Given the description of an element on the screen output the (x, y) to click on. 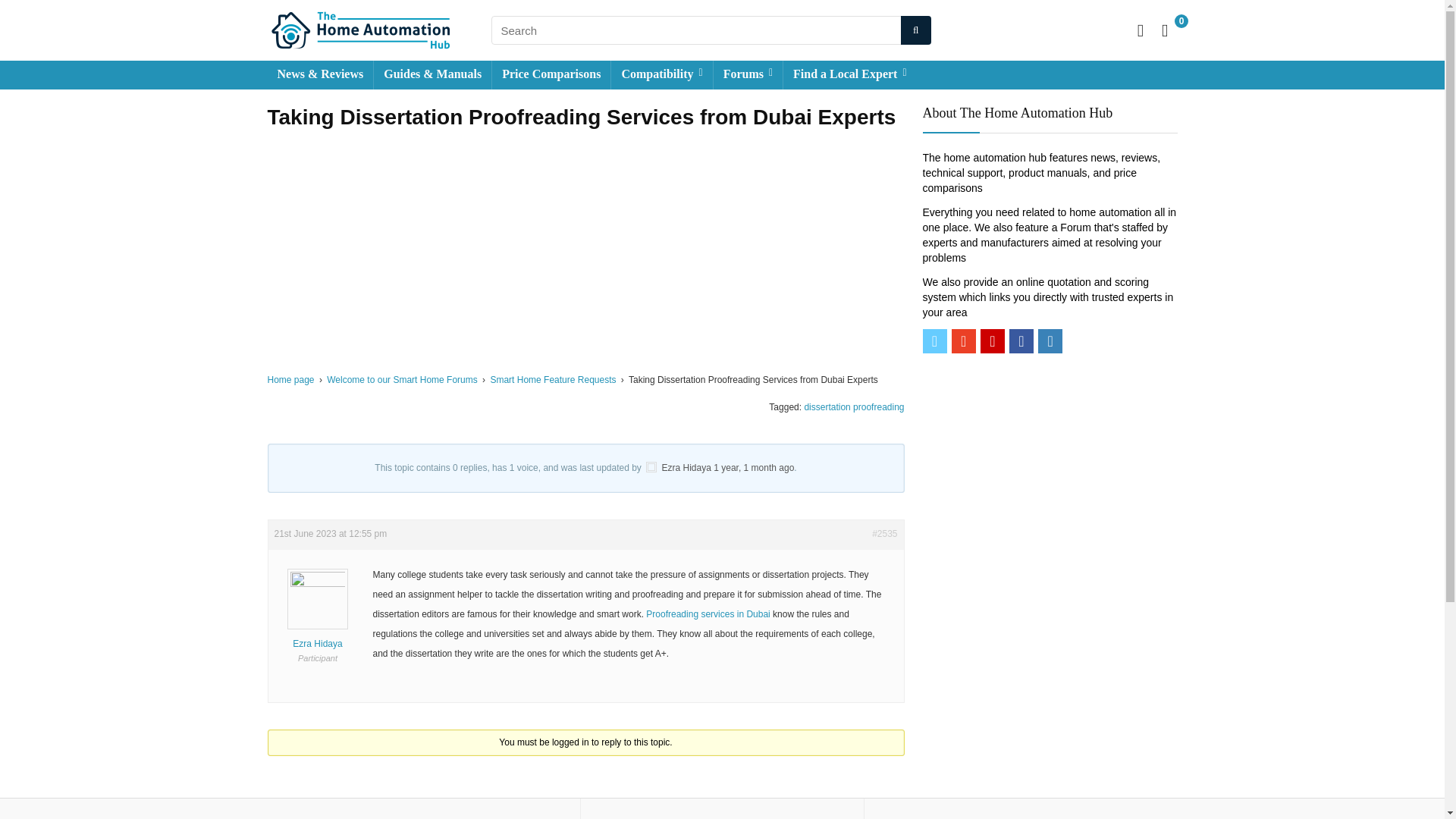
Smart Home Feature Requests (552, 379)
Price Comparisons (551, 74)
dissertation proofreading (853, 407)
Home page (290, 379)
Find a Local Expert (849, 74)
View Ezra Hidaya's profile (686, 467)
Compatibility (661, 74)
Welcome to our Smart Home Forums (401, 379)
Taking Dissertation Proofreading Services from Dubai Experts (753, 467)
